Given the description of an element on the screen output the (x, y) to click on. 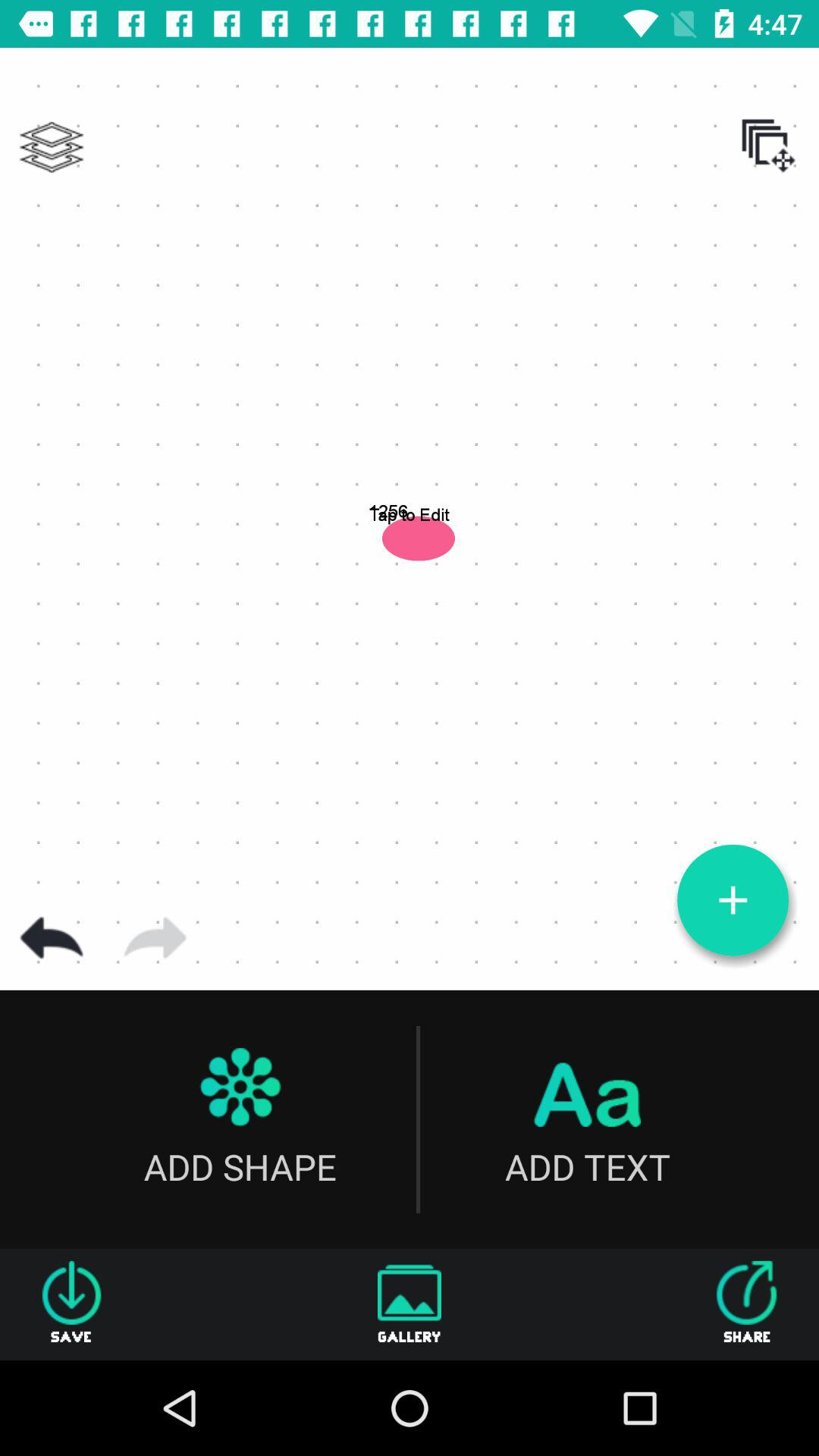
new entry (733, 900)
